Given the description of an element on the screen output the (x, y) to click on. 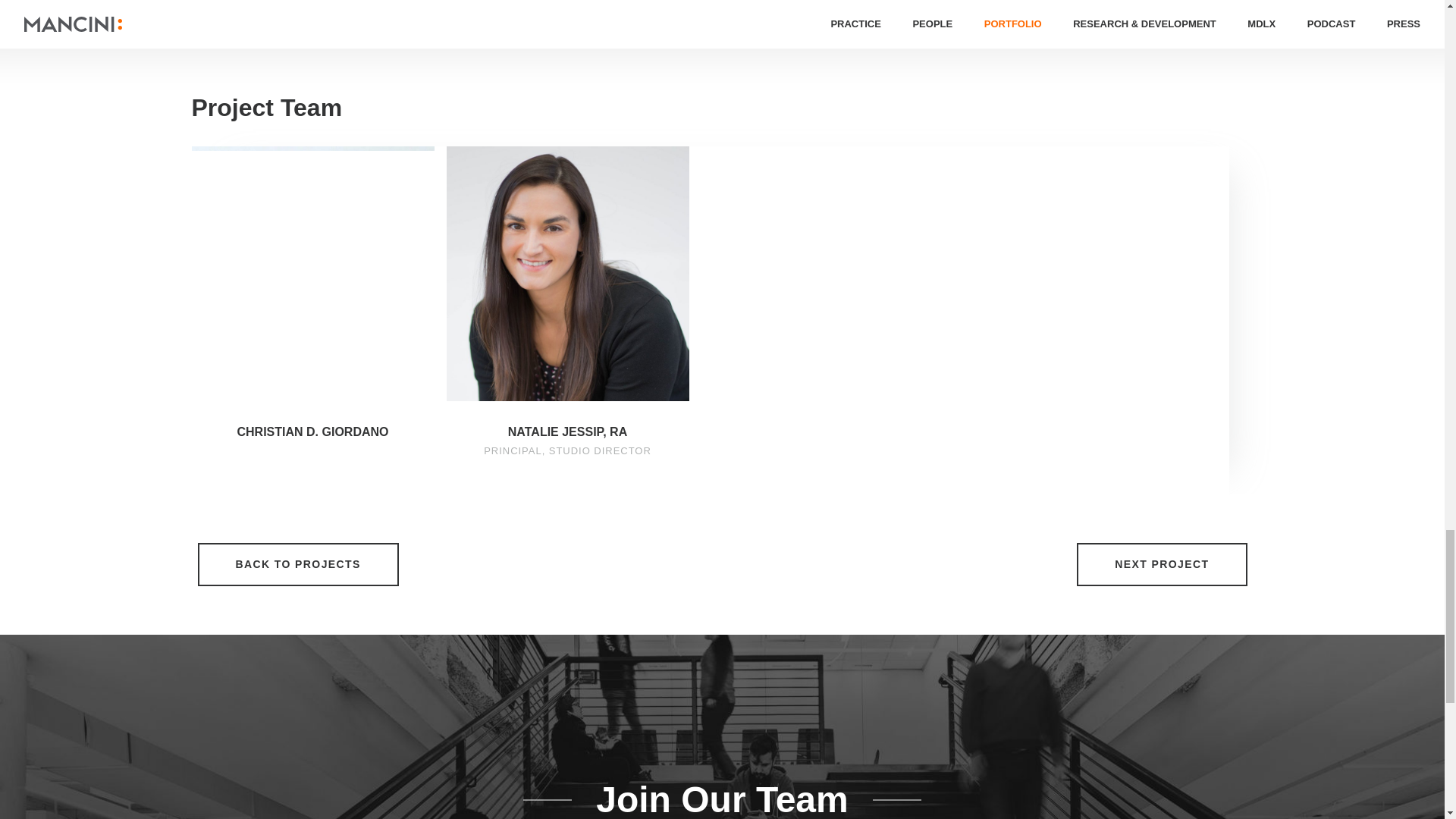
BACK TO PROJECTS (296, 564)
NEXT PROJECT (1161, 564)
